Given the description of an element on the screen output the (x, y) to click on. 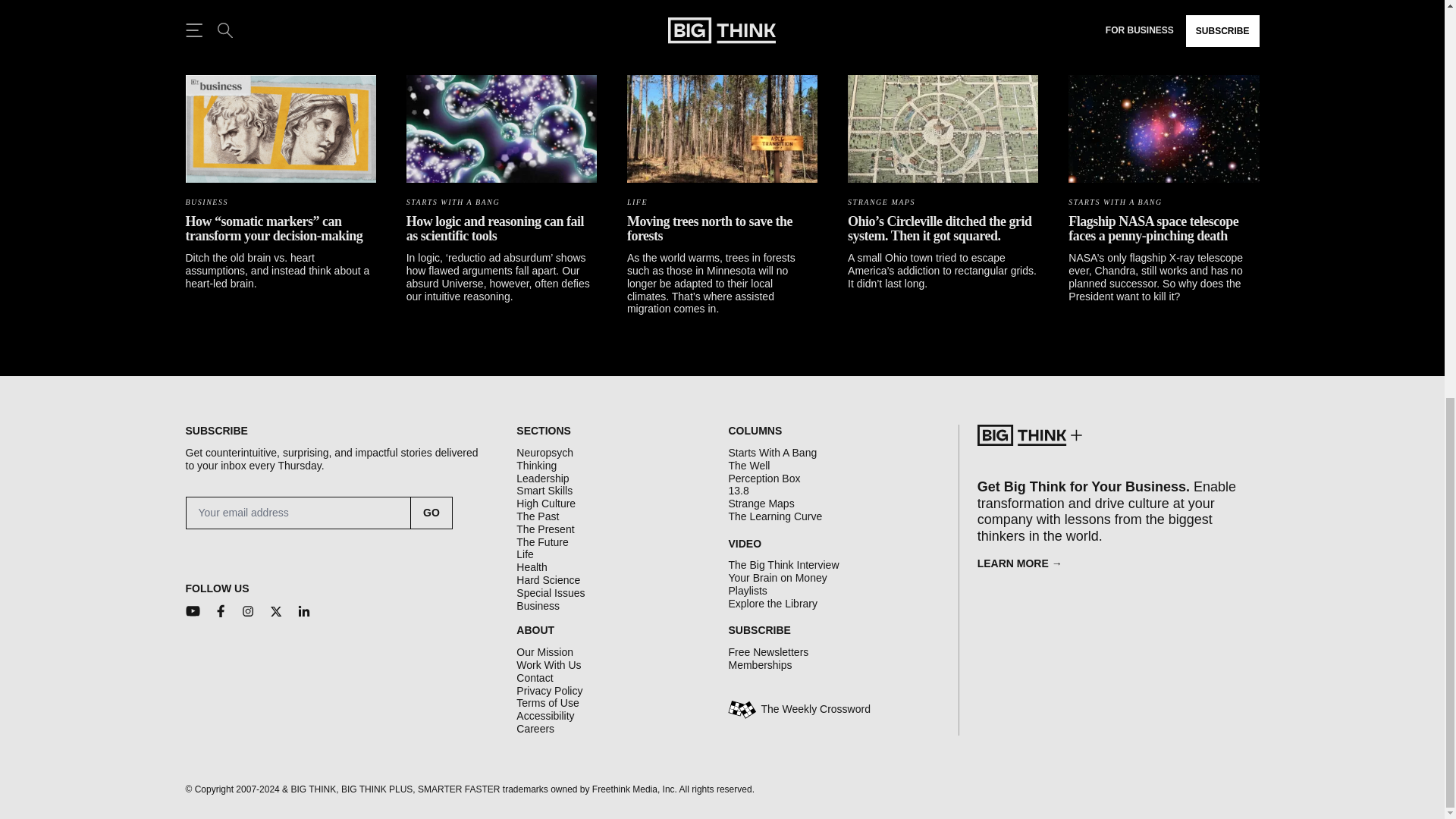
Go (431, 512)
